Given the description of an element on the screen output the (x, y) to click on. 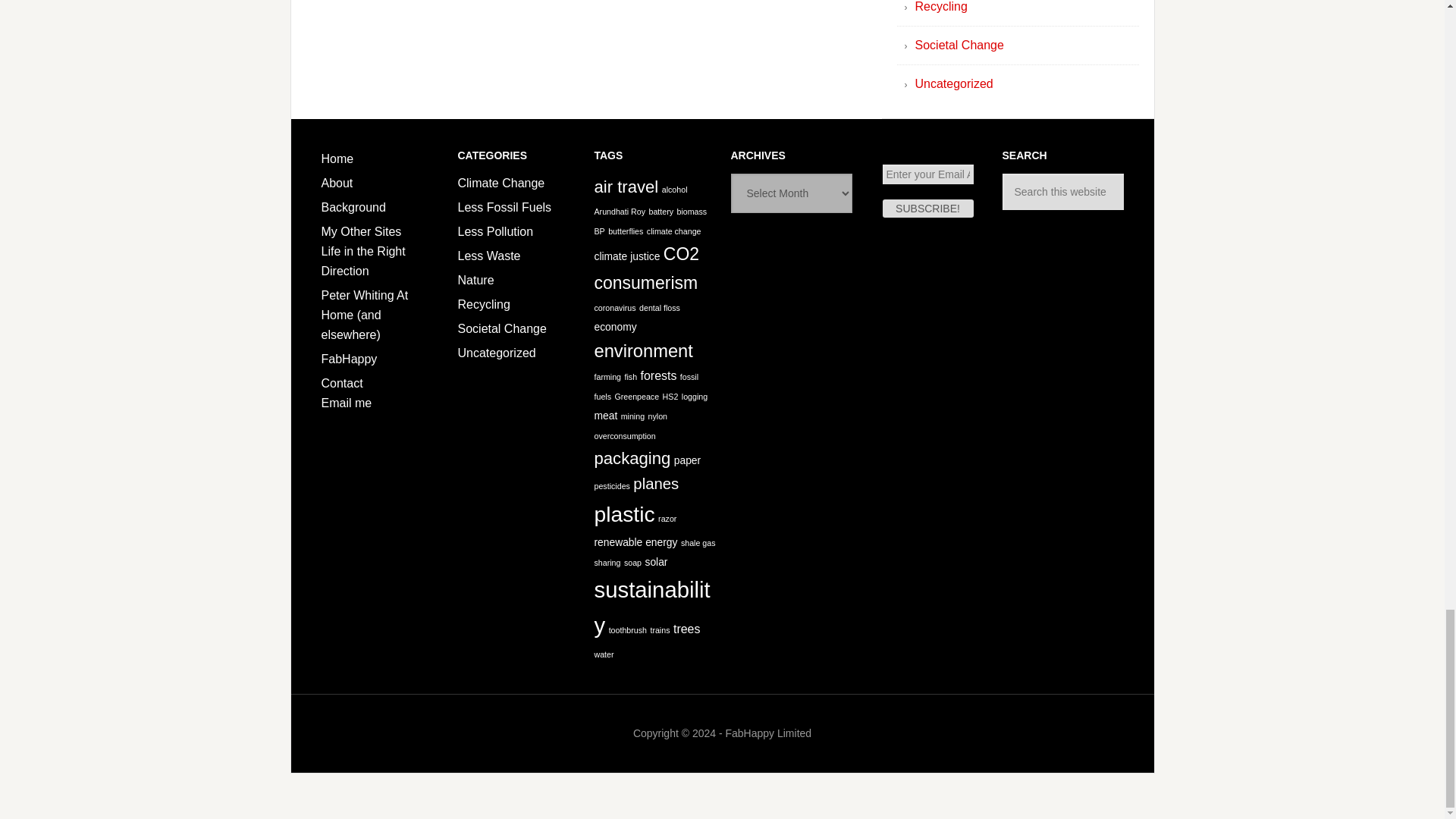
Subscribe! (928, 208)
Enter your Email Address (928, 174)
